Given the description of an element on the screen output the (x, y) to click on. 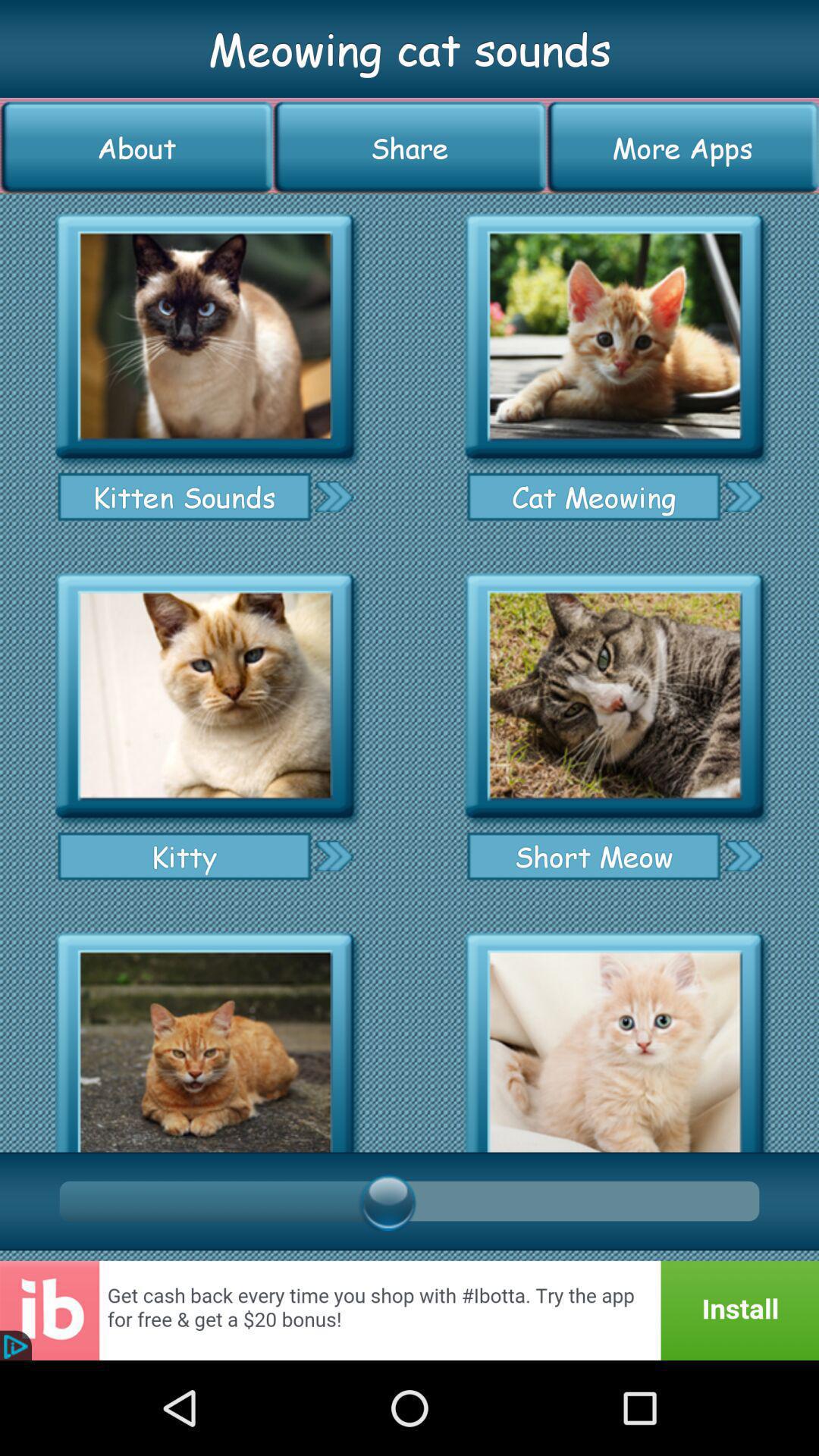
scroll until more apps item (682, 147)
